Given the description of an element on the screen output the (x, y) to click on. 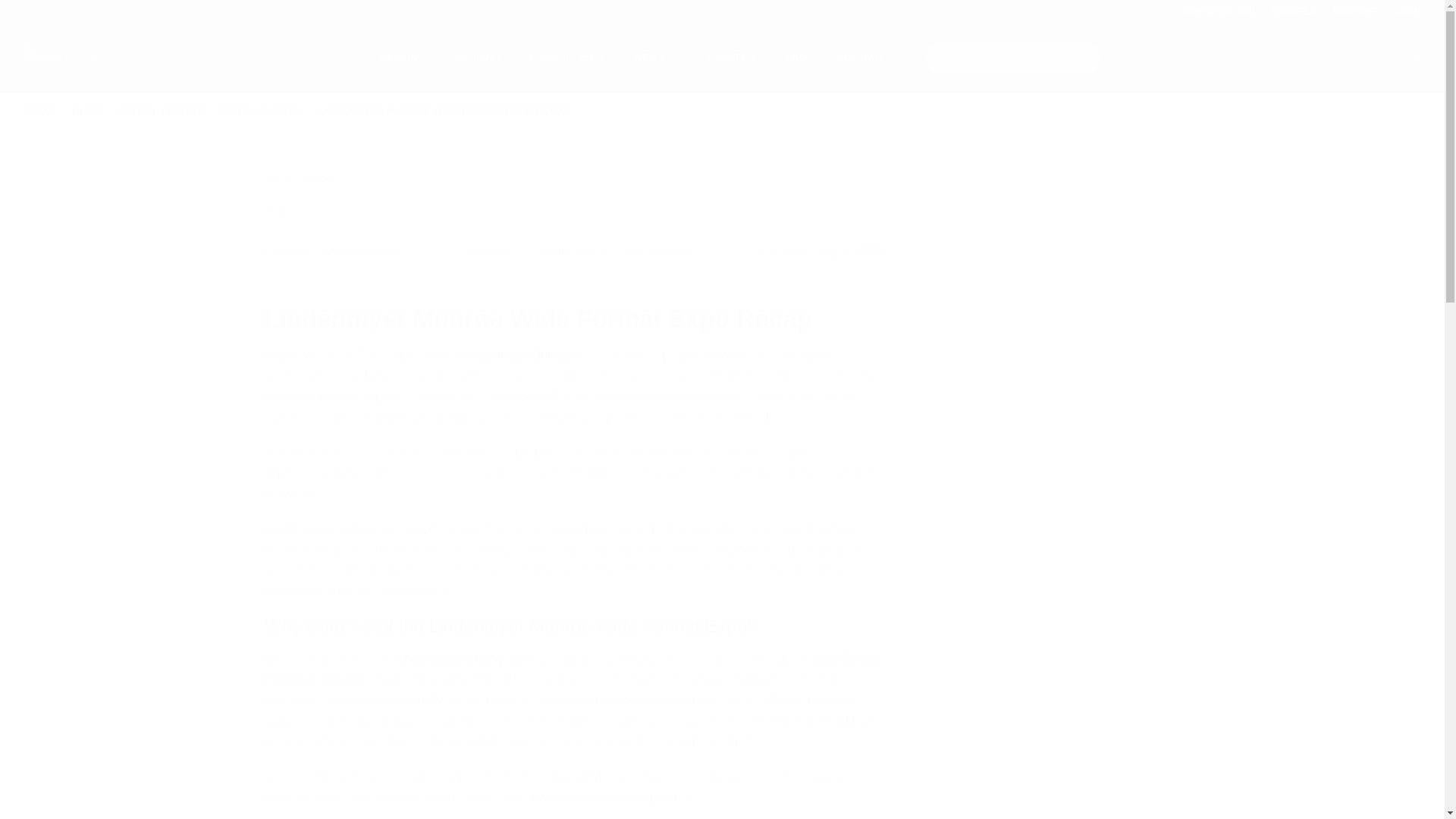
NEWS (649, 57)
RESOURCES (561, 57)
REGISTER (1285, 11)
FAQ (796, 57)
ABOUT US (730, 57)
LOGIN (1399, 11)
DESIGNS (402, 57)
MAPPING (477, 57)
CONTACT (859, 57)
ACCOUNT (1345, 11)
